Given the description of an element on the screen output the (x, y) to click on. 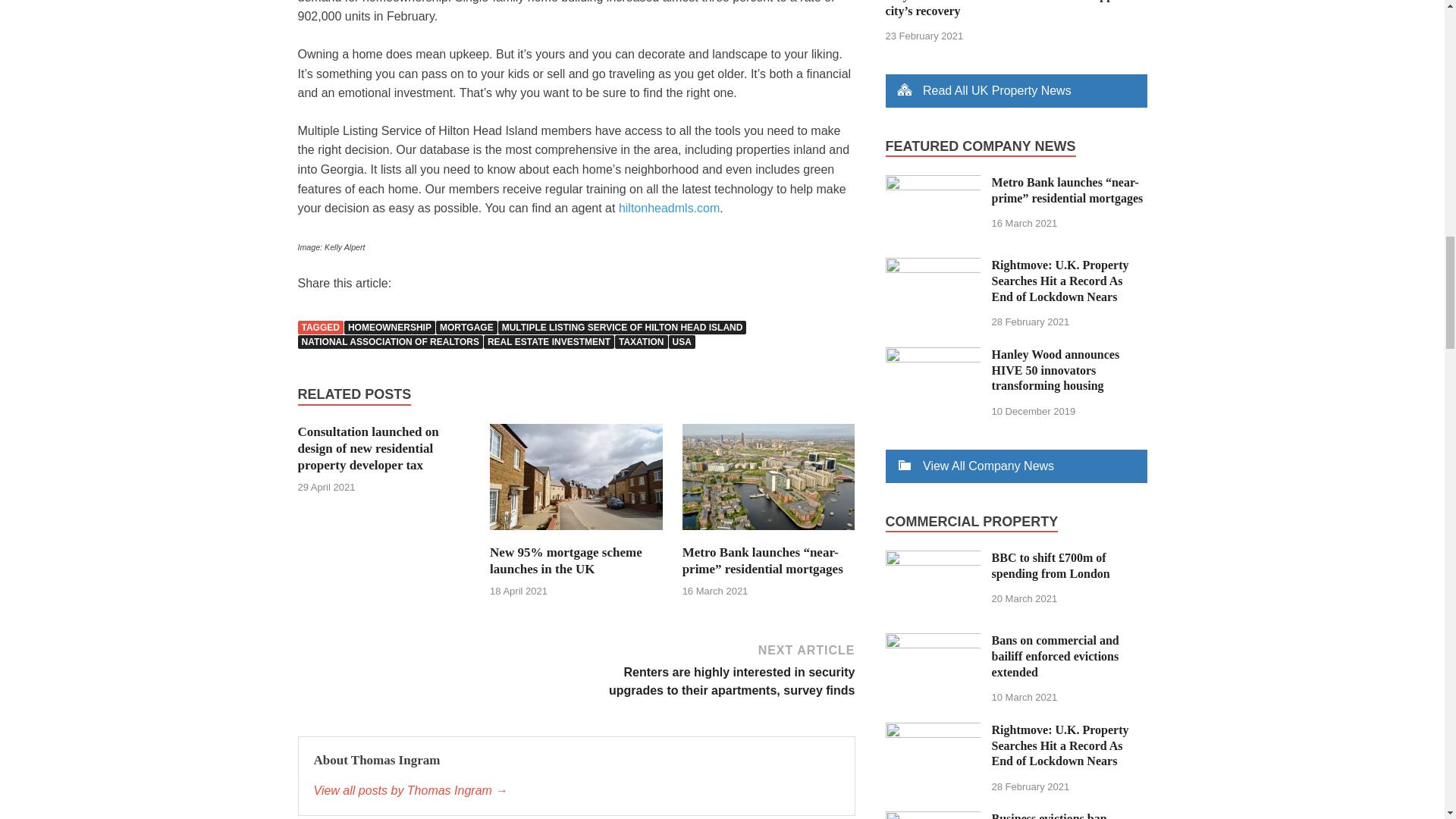
hiltonheadmls.com (668, 207)
USA (681, 341)
hiltonheadmls.com (668, 207)
Thomas Ingram (577, 791)
HOMEOWNERSHIP (389, 327)
MORTGAGE (466, 327)
TAXATION (641, 341)
REAL ESTATE INVESTMENT (548, 341)
MULTIPLE LISTING SERVICE OF HILTON HEAD ISLAND (621, 327)
Bans on commercial and bailiff enforced evictions extended (932, 641)
